Given the description of an element on the screen output the (x, y) to click on. 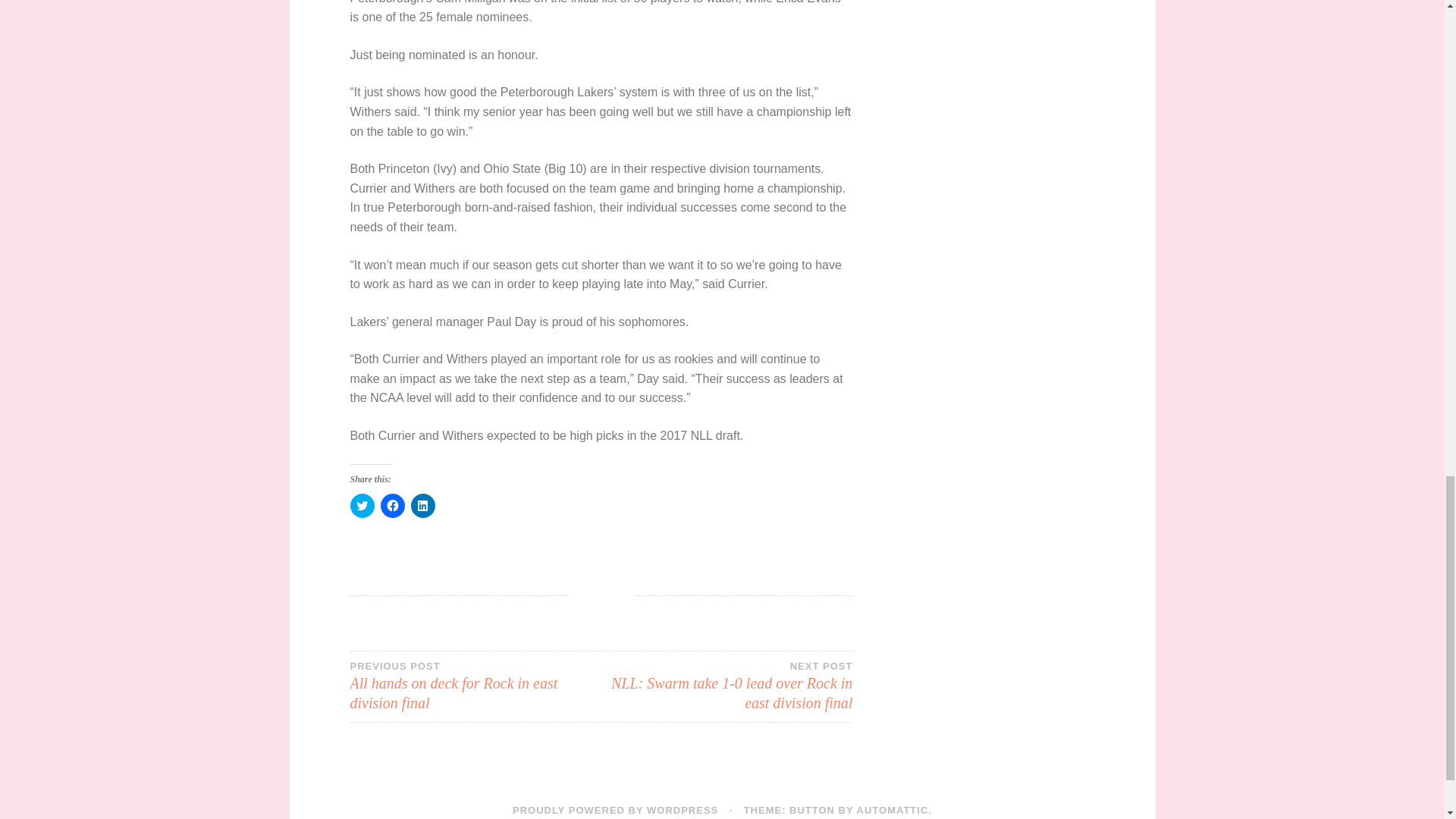
AUTOMATTIC (892, 809)
Click to share on Facebook (392, 505)
Click to share on LinkedIn (422, 505)
PROUDLY POWERED BY WORDPRESS (614, 809)
Click to share on Twitter (362, 505)
